Given the description of an element on the screen output the (x, y) to click on. 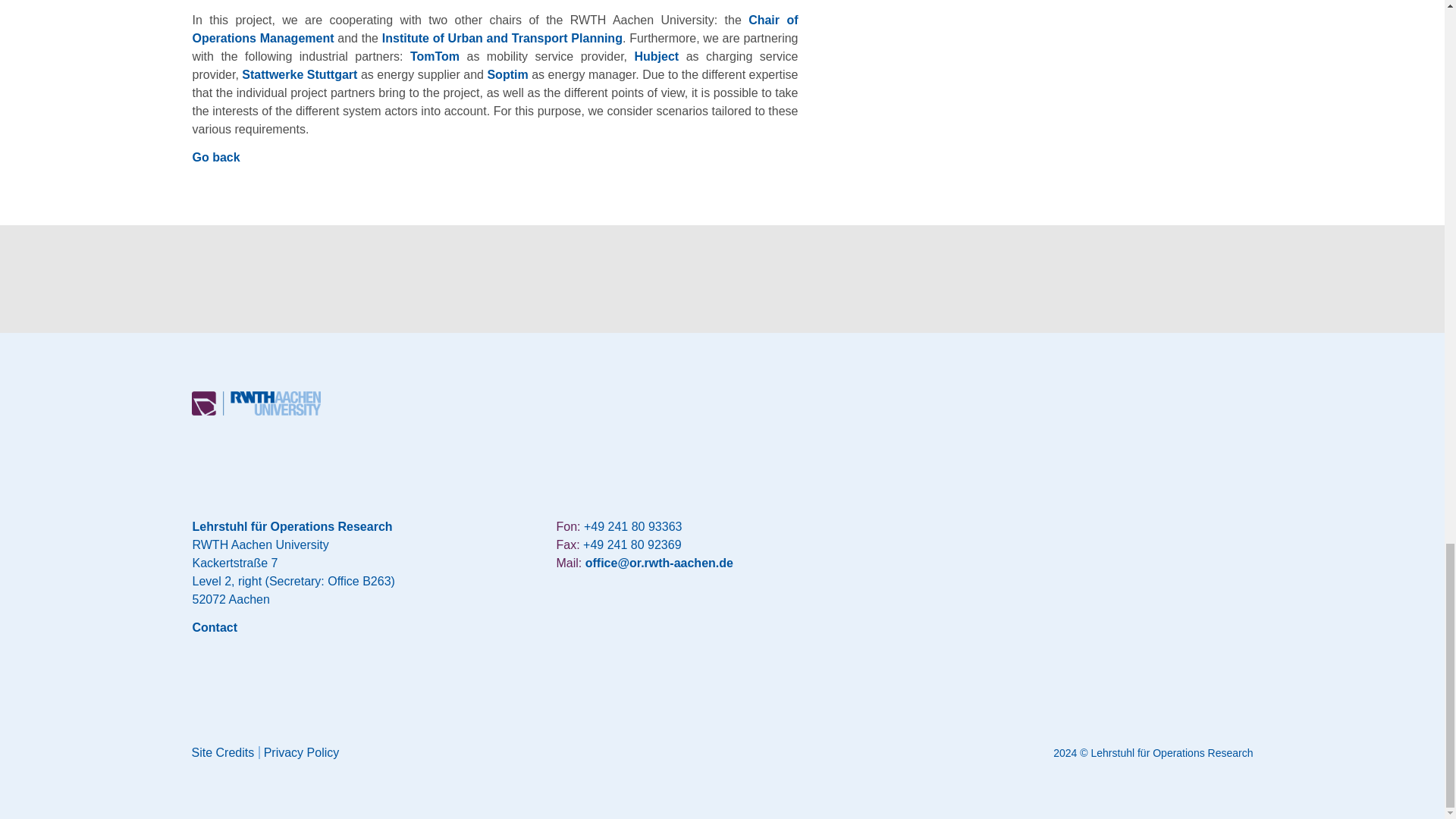
Institute of Urban and Transport Planning (502, 38)
Stattwerke Stuttgart (298, 74)
Home (255, 410)
TomTom (435, 56)
Chair of Operations Management (494, 29)
Back home (255, 403)
Hubject (656, 56)
Go back (216, 156)
